Given the description of an element on the screen output the (x, y) to click on. 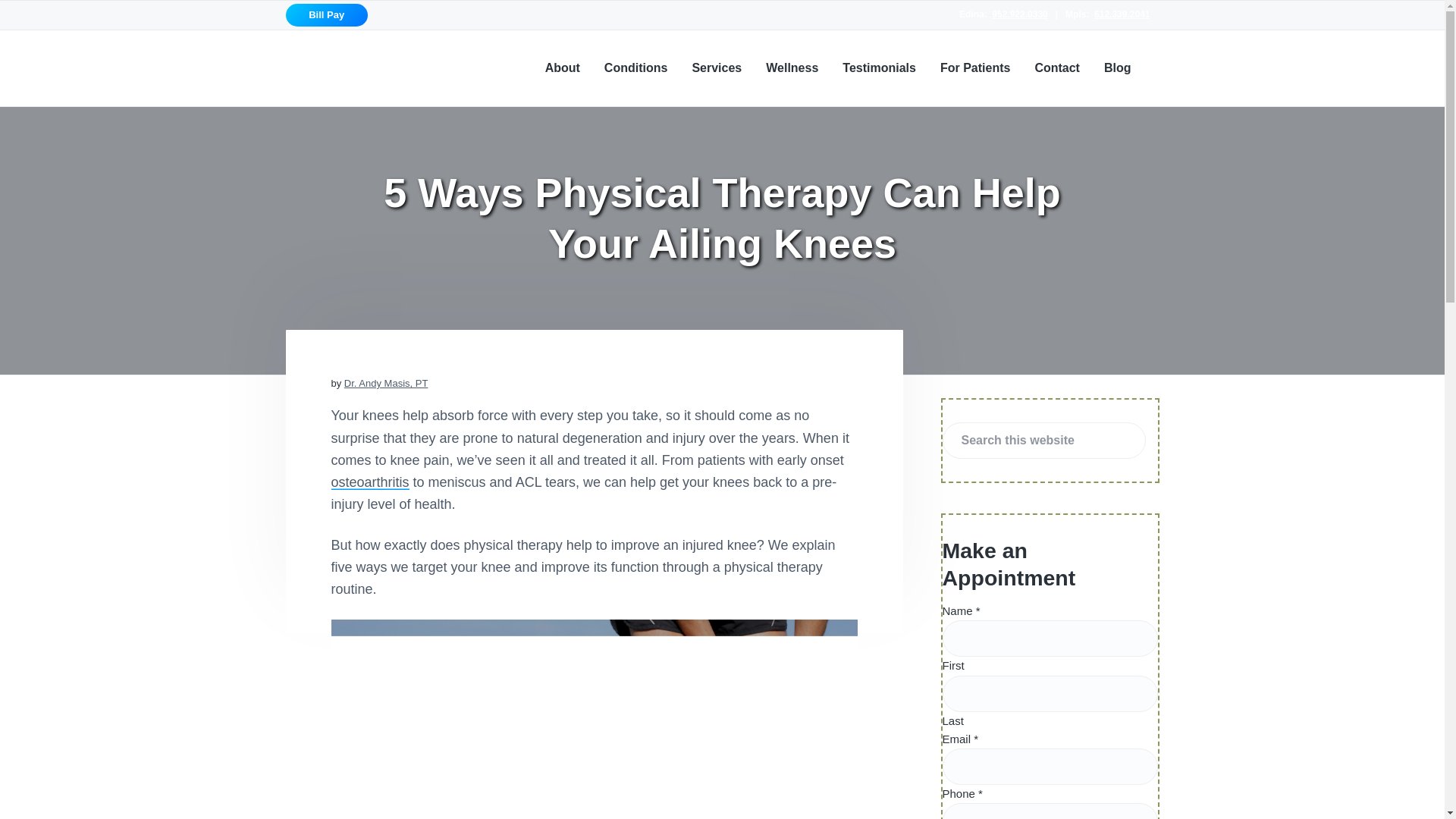
Bill Pay (325, 15)
952.922.0330 (1018, 14)
Conditions (636, 67)
About (561, 67)
Services (716, 67)
612.339.2041 (1122, 14)
